Given the description of an element on the screen output the (x, y) to click on. 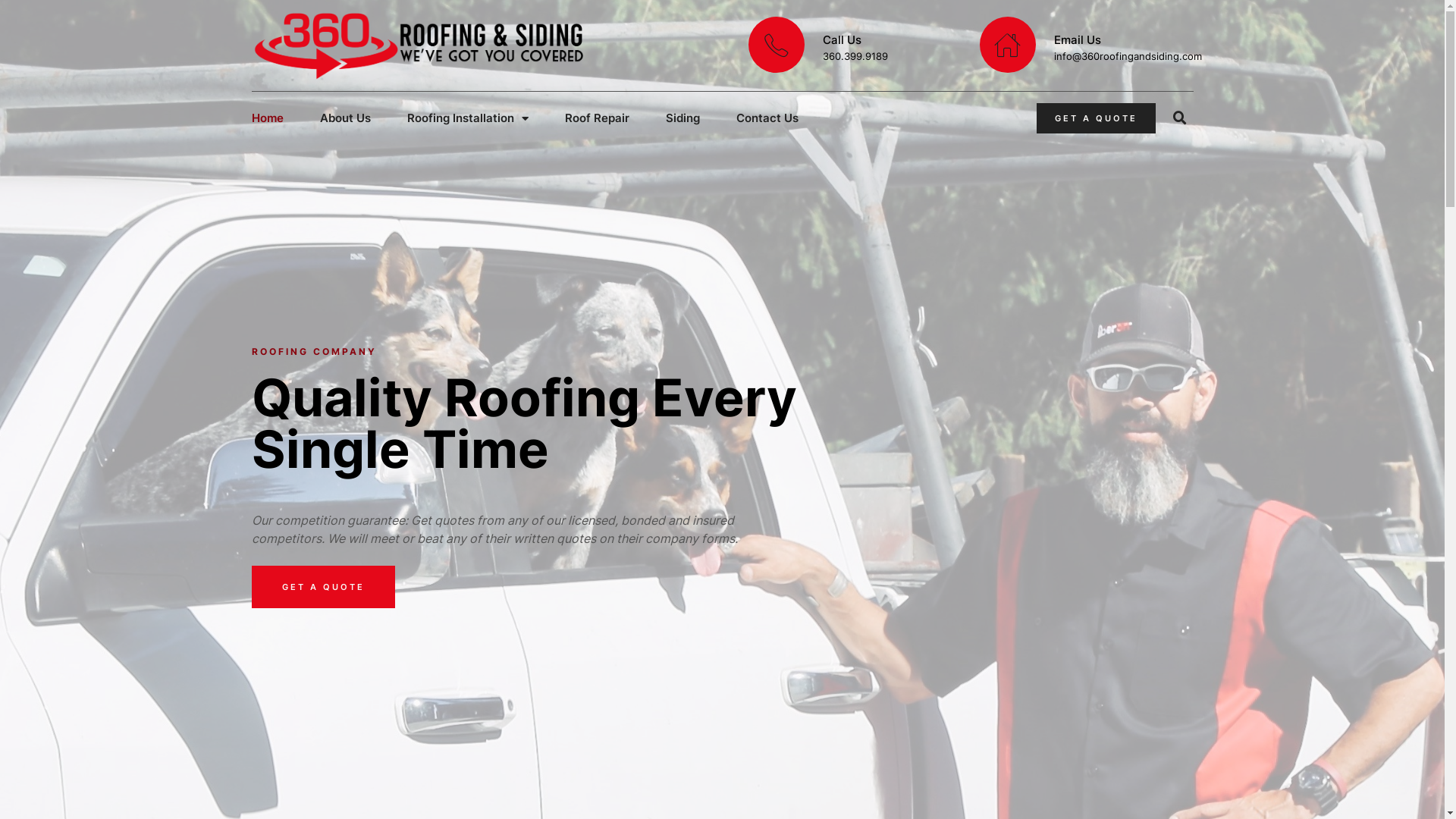
Siding Element type: text (682, 117)
Home Element type: text (267, 117)
Roofing Installation Element type: text (466, 117)
GET A QUOTE Element type: text (323, 586)
About Us Element type: text (345, 117)
GET A QUOTE Element type: text (1095, 118)
Roof Repair Element type: text (596, 117)
Contact Us Element type: text (766, 117)
Email Us Element type: text (1077, 39)
Call Us Element type: text (841, 39)
